Given the description of an element on the screen output the (x, y) to click on. 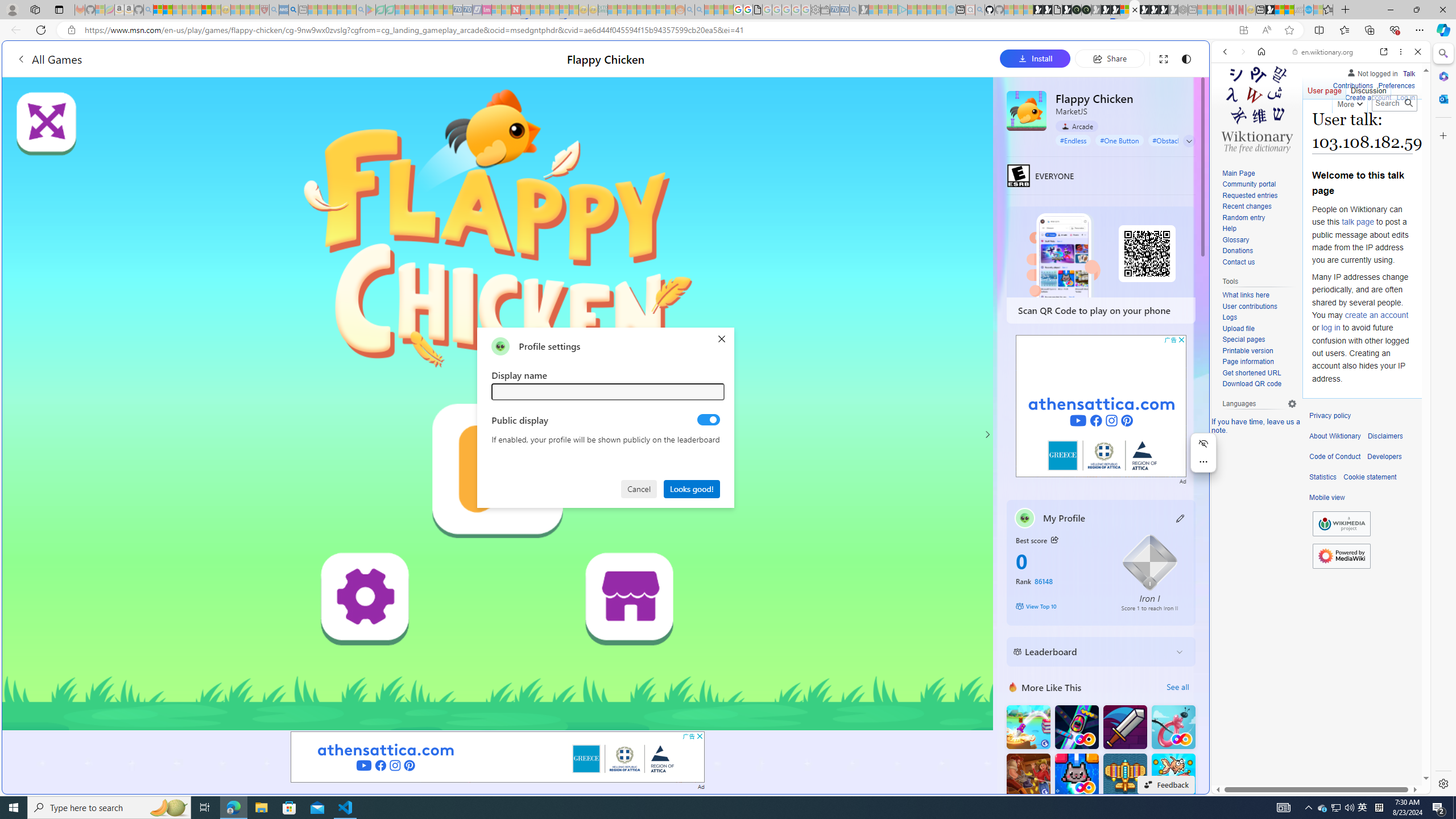
Arcade (1076, 125)
Knife Flip (1028, 726)
Class: button edit-icon (1180, 517)
IMAGES (1262, 130)
Glossary (1259, 240)
